Given the description of an element on the screen output the (x, y) to click on. 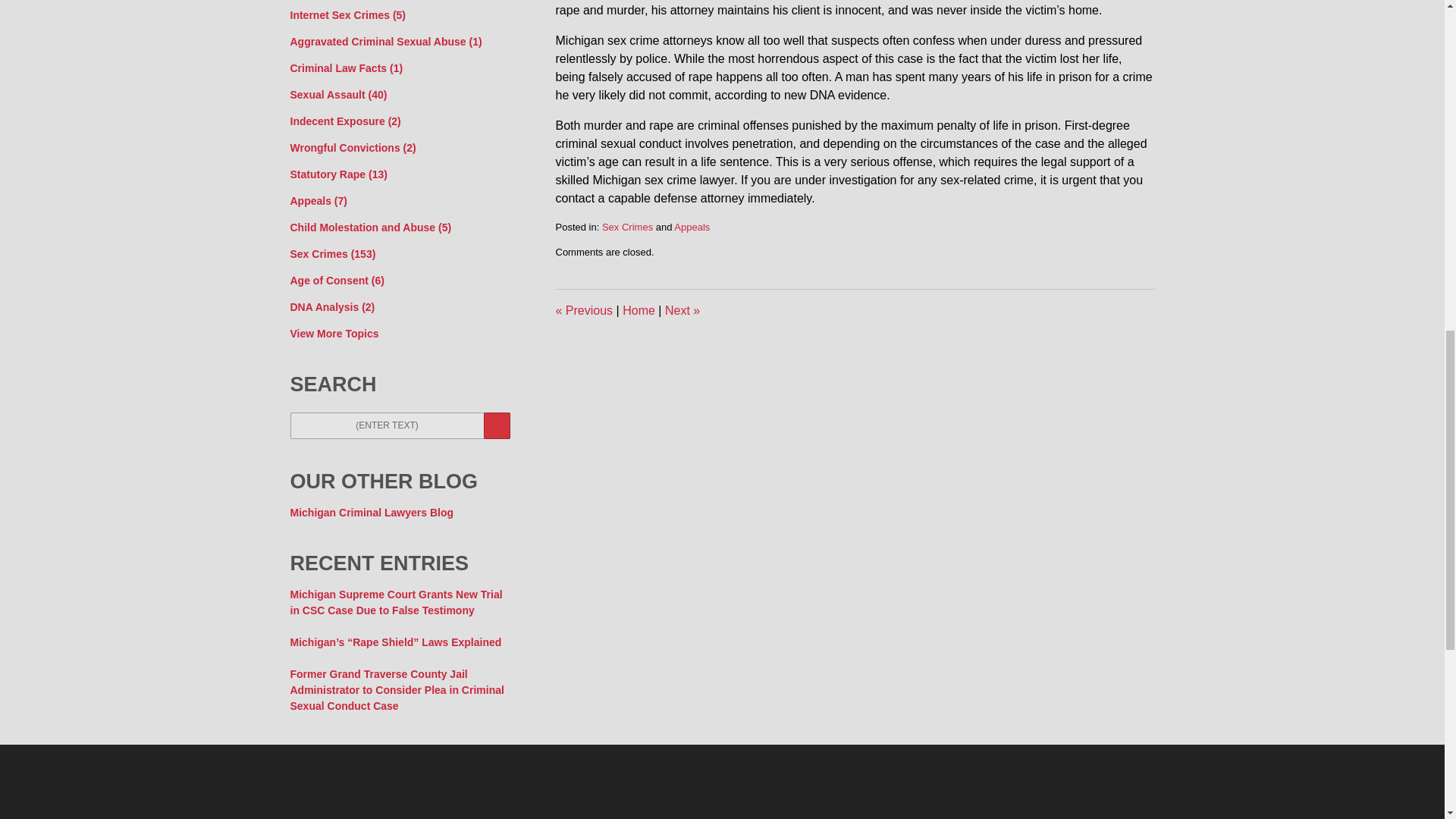
Home (639, 309)
Appeals (692, 226)
Sex Crimes (627, 226)
View all posts in Sex Crimes (627, 226)
View all posts in Appeals (692, 226)
